Given the description of an element on the screen output the (x, y) to click on. 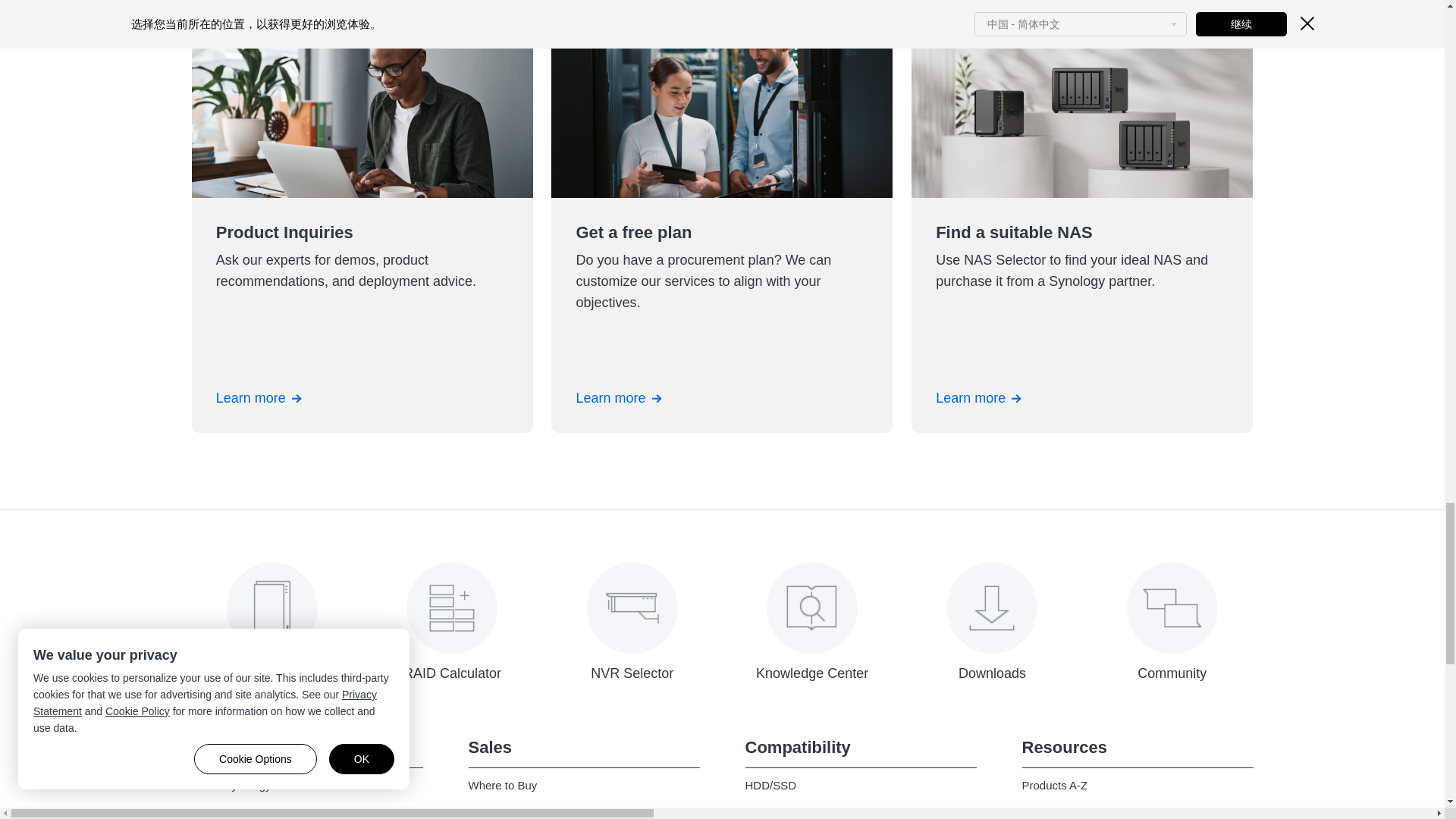
Learn more (618, 397)
Learn more (258, 397)
Learn more (979, 397)
